Given the description of an element on the screen output the (x, y) to click on. 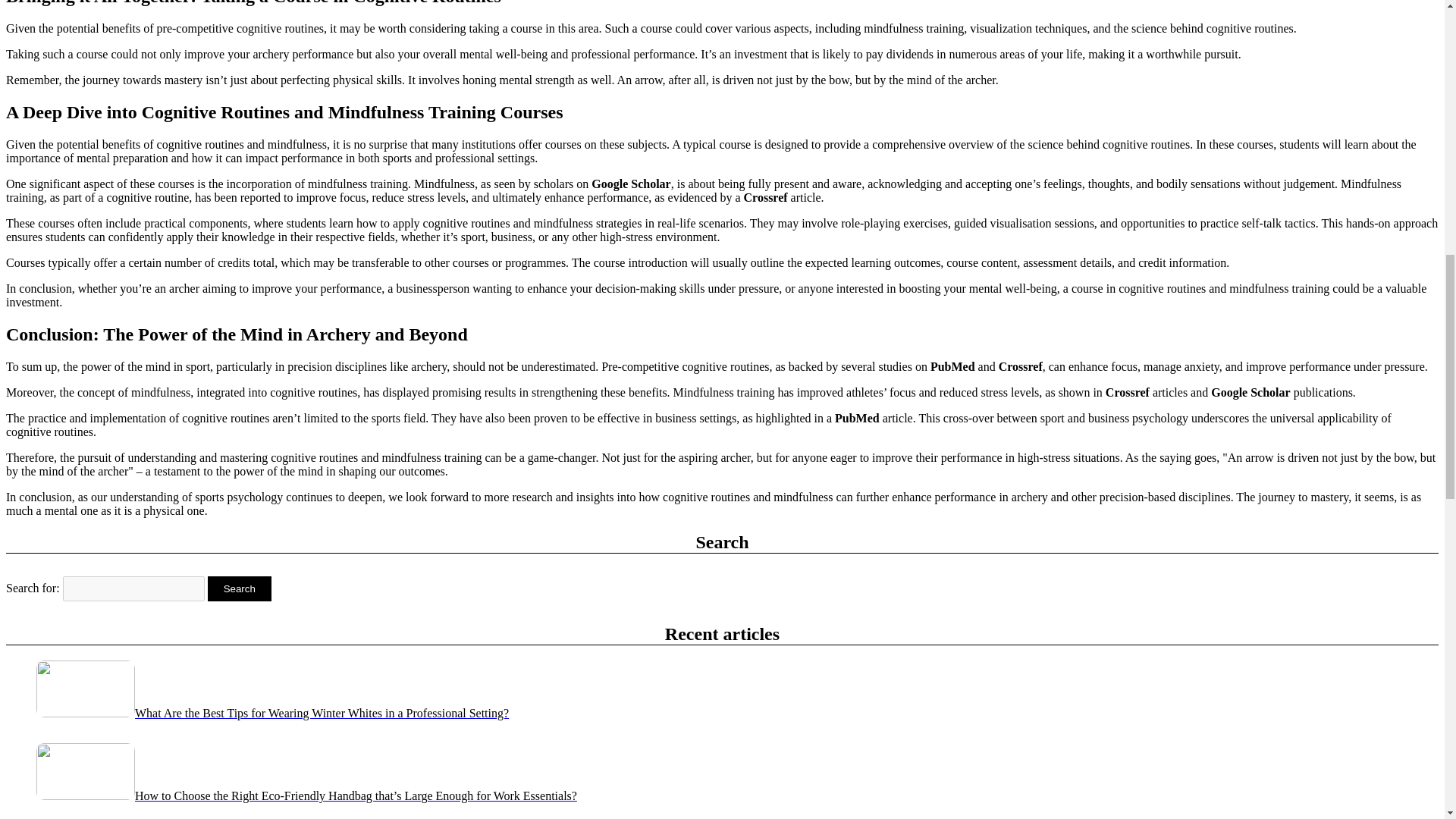
Search (239, 588)
Search (239, 588)
